Given the description of an element on the screen output the (x, y) to click on. 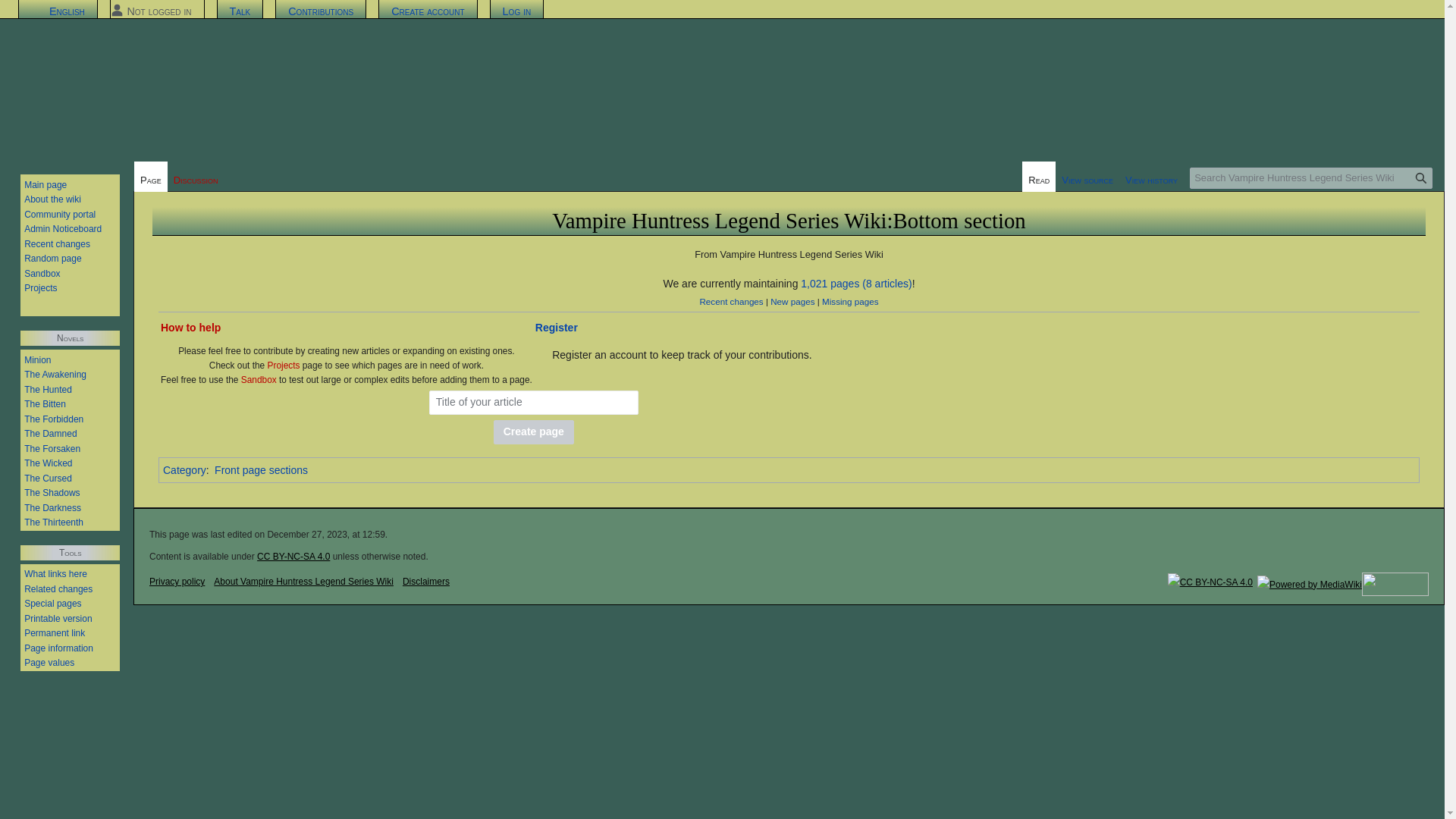
Category:Front page sections (260, 469)
Create account (427, 10)
Contributions (320, 10)
About the wiki (52, 199)
The Awakening (54, 374)
Go (1420, 178)
Special:RecentChanges (730, 301)
View history (1151, 176)
The user page for the IP address you are editing as (158, 10)
Special:UserLogin (556, 327)
Front page sections (260, 469)
Minion (37, 359)
Special:Categories (184, 469)
Admin Noticeboard (62, 228)
